Given the description of an element on the screen output the (x, y) to click on. 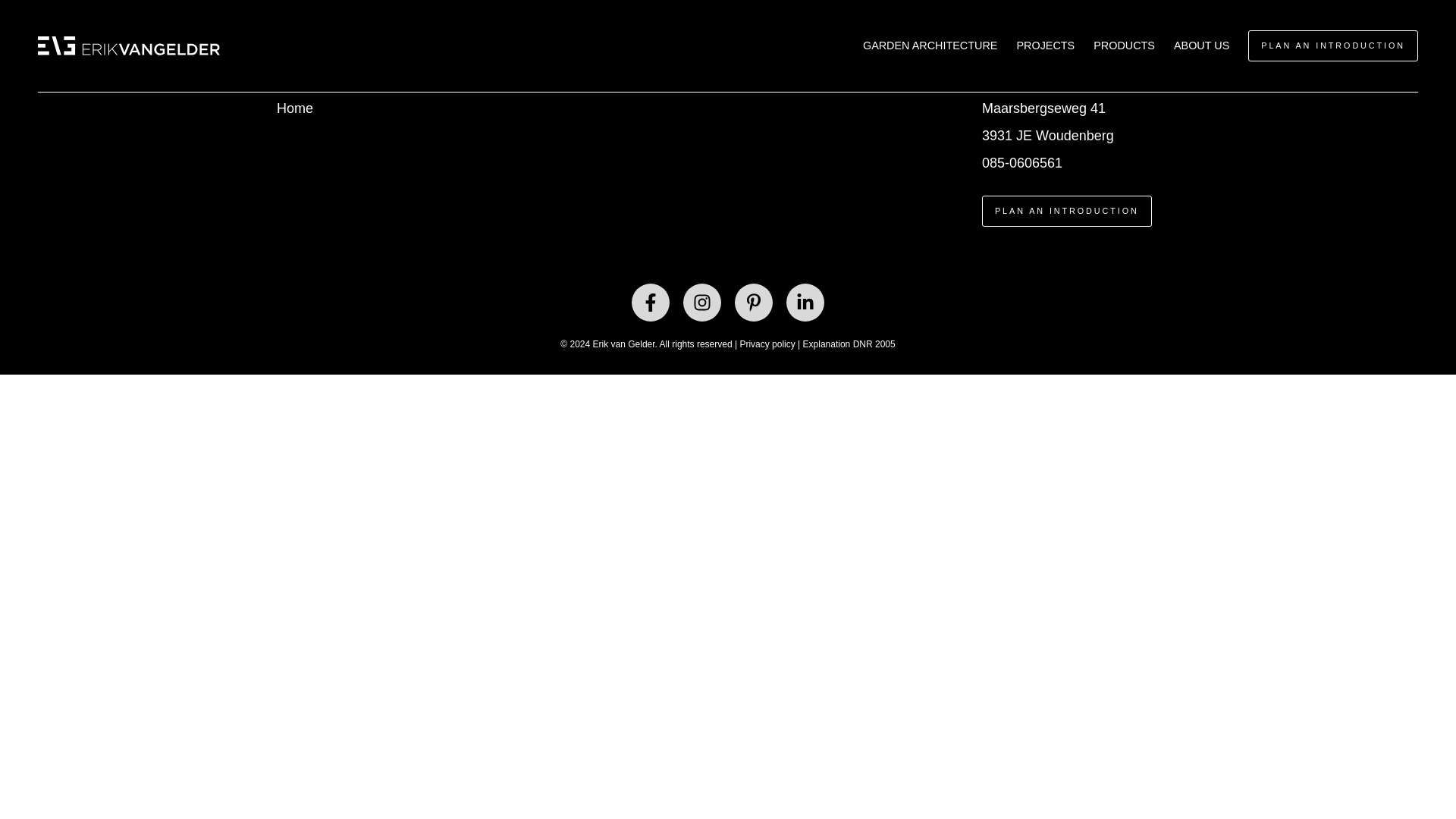
PRODUCTS (1123, 45)
PROJECTS (1045, 45)
PLAN AN INTRODUCTION (1332, 45)
ABOUT US (1200, 45)
085-0606561 (1021, 162)
PLAN AN INTRODUCTION (1066, 210)
Home (294, 108)
Explanation DNR 2005 (849, 344)
Privacy policy (766, 344)
GARDEN ARCHITECTURE (930, 45)
